Given the description of an element on the screen output the (x, y) to click on. 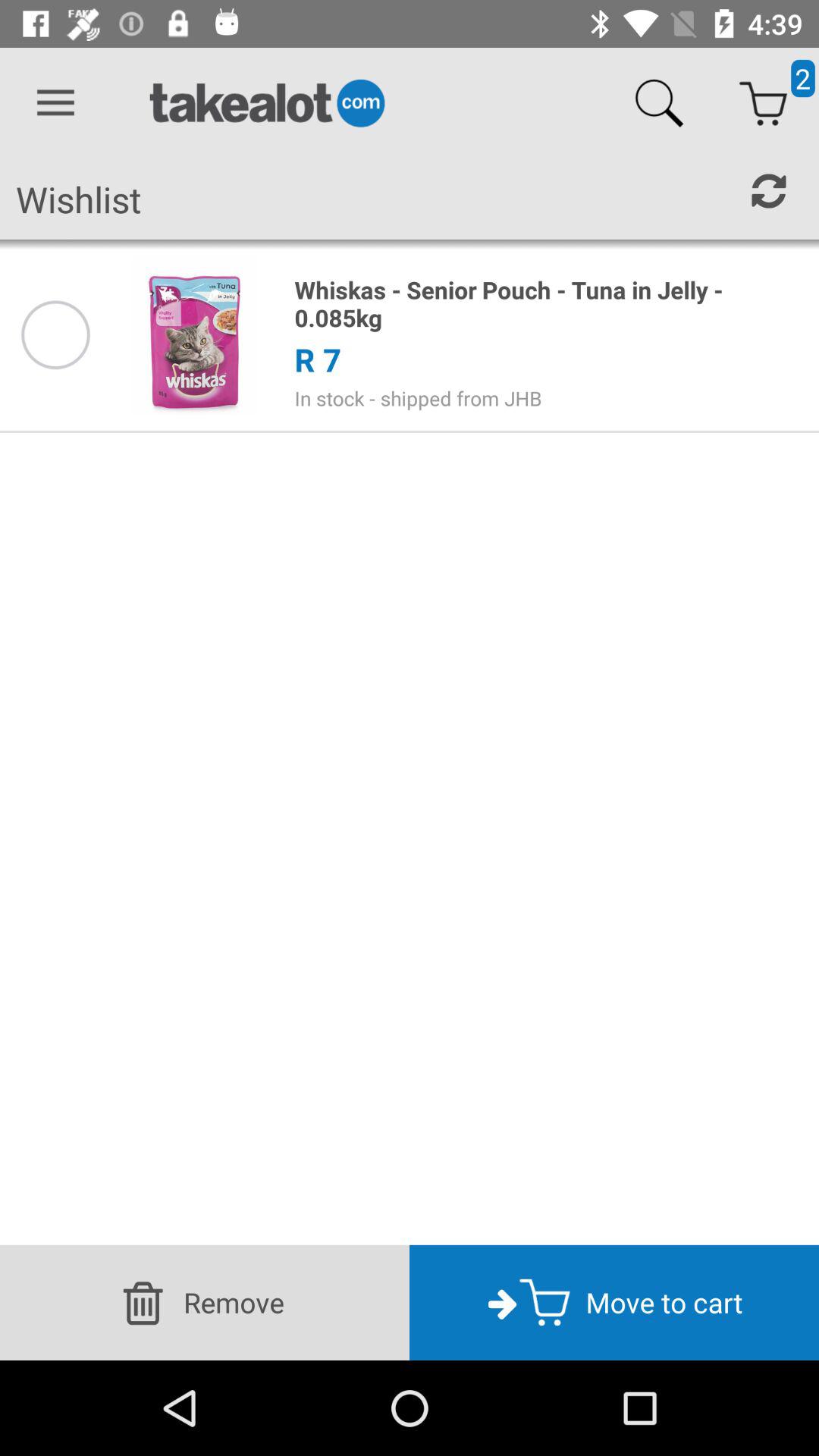
open icon above in stock shipped (317, 359)
